Given the description of an element on the screen output the (x, y) to click on. 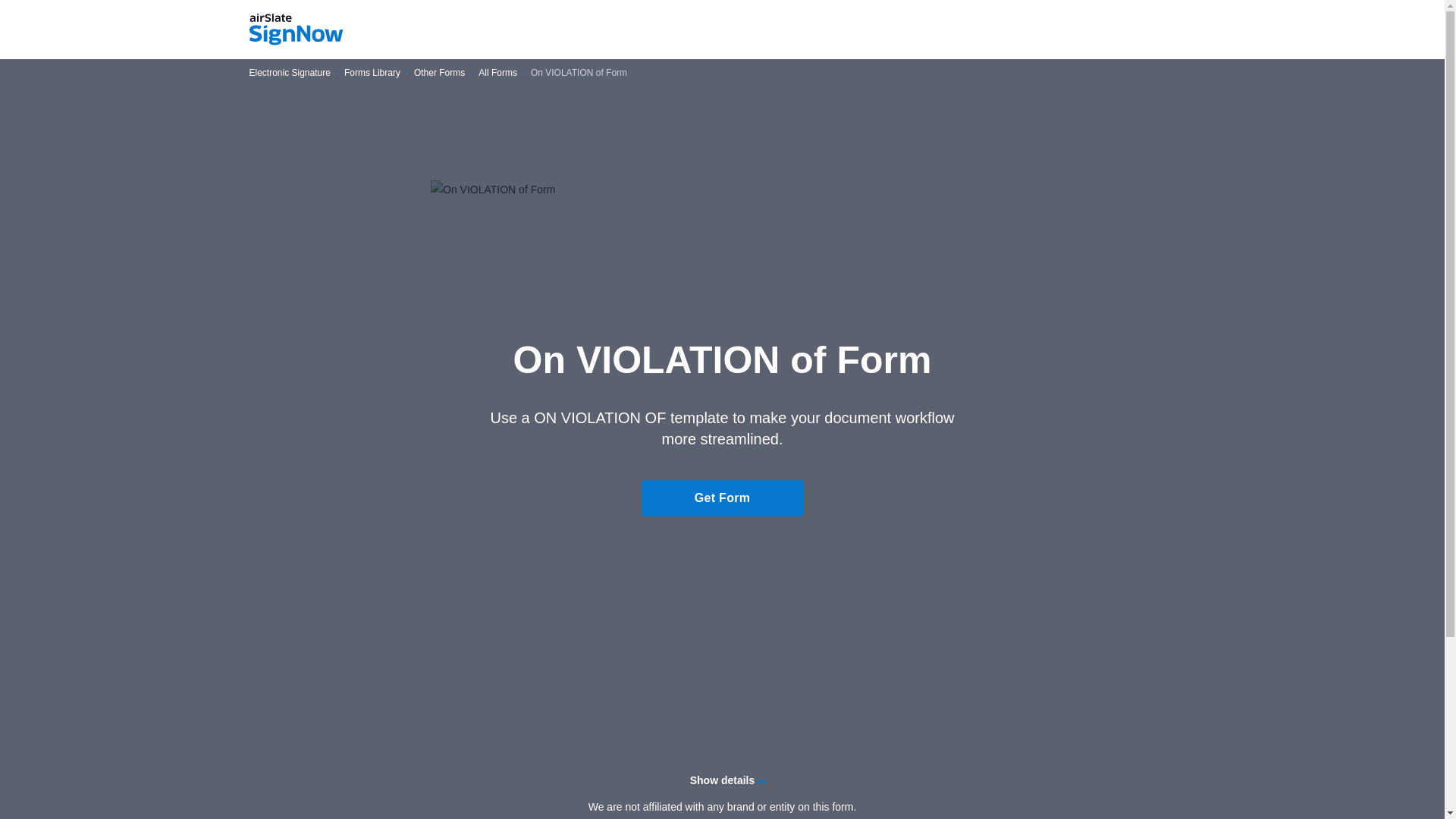
All Forms (497, 73)
Electronic Signature (289, 73)
Forms Library (371, 73)
Other Forms (438, 73)
Show details (722, 780)
Get Form (722, 497)
signNow (295, 29)
